Given the description of an element on the screen output the (x, y) to click on. 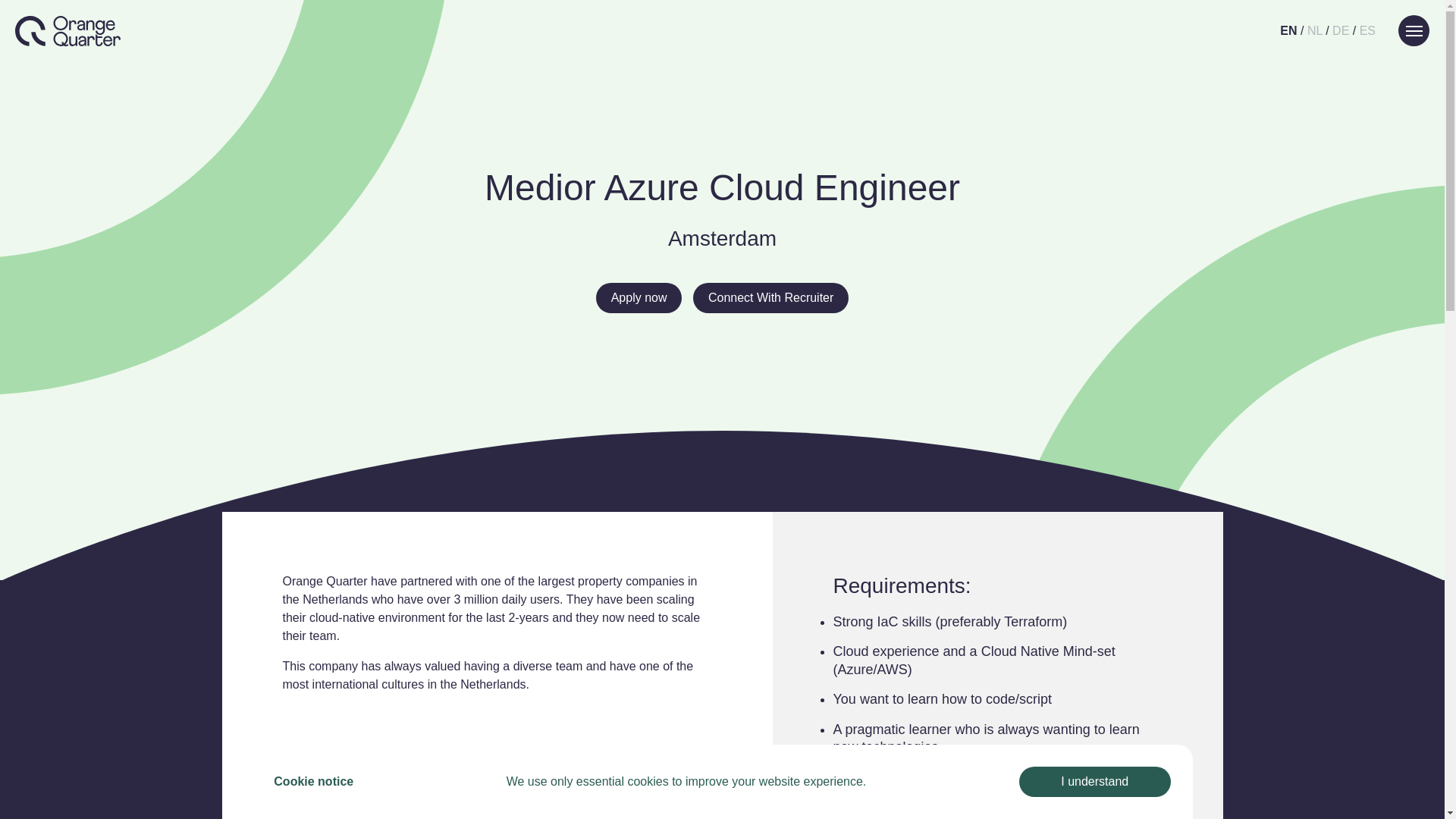
ES (1367, 30)
DE (1340, 30)
EN (1288, 30)
I understand (1094, 781)
Apply now (638, 297)
NL (1314, 30)
Connect With Recruiter (770, 297)
